Given the description of an element on the screen output the (x, y) to click on. 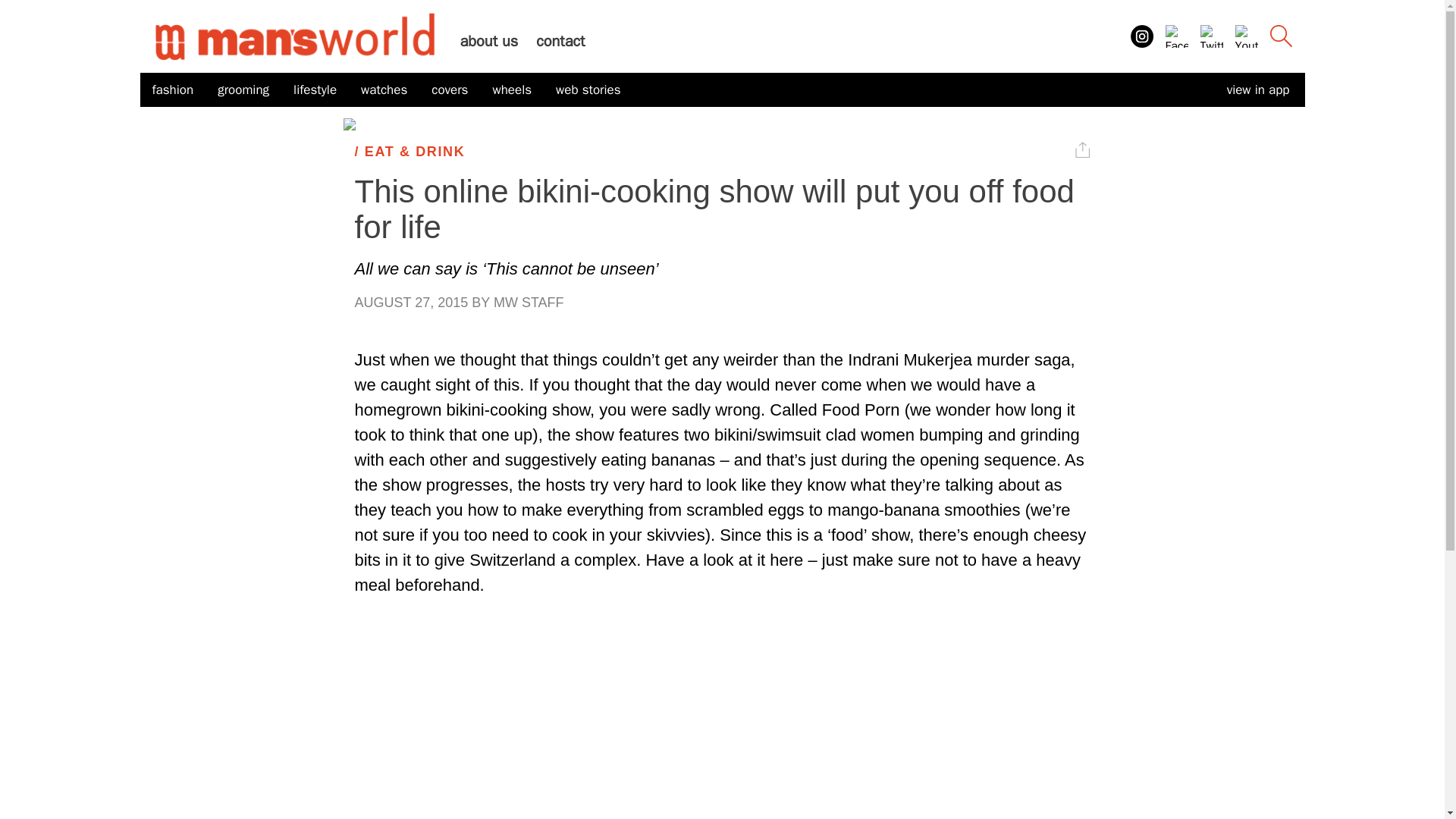
view in app (1257, 89)
about us (489, 41)
covers (449, 90)
lifestyle (315, 90)
web stories (588, 90)
grooming (243, 90)
watches (384, 90)
fashion (172, 90)
contact (560, 41)
YouTube video player (722, 726)
